Given the description of an element on the screen output the (x, y) to click on. 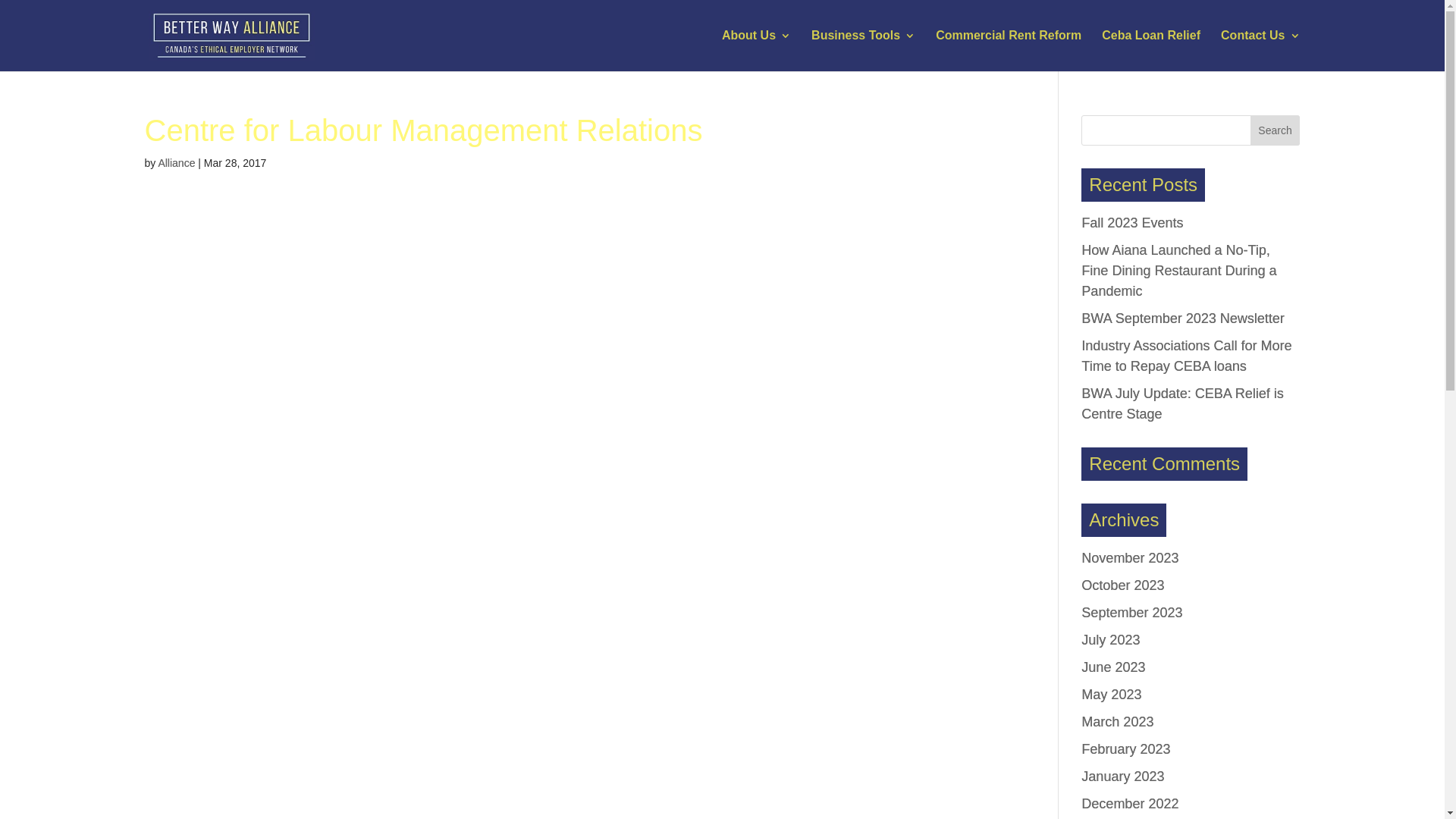
November 2023 Element type: text (1129, 557)
December 2022 Element type: text (1129, 803)
June 2023 Element type: text (1113, 666)
BWA July Update: CEBA Relief is Centre Stage Element type: text (1182, 403)
Commercial Rent Reform Element type: text (1008, 50)
July 2023 Element type: text (1110, 639)
Contact Us Element type: text (1259, 50)
March 2023 Element type: text (1117, 721)
Fall 2023 Events Element type: text (1132, 222)
February 2023 Element type: text (1125, 748)
Industry Associations Call for More Time to Repay CEBA loans Element type: text (1186, 355)
BWA September 2023 Newsletter Element type: text (1182, 318)
January 2023 Element type: text (1122, 776)
Ceba Loan Relief Element type: text (1150, 50)
Alliance Element type: text (175, 162)
May 2023 Element type: text (1111, 694)
Business Tools Element type: text (863, 50)
September 2023 Element type: text (1131, 612)
About Us Element type: text (755, 50)
October 2023 Element type: text (1122, 585)
Search Element type: text (1275, 130)
